Given the description of an element on the screen output the (x, y) to click on. 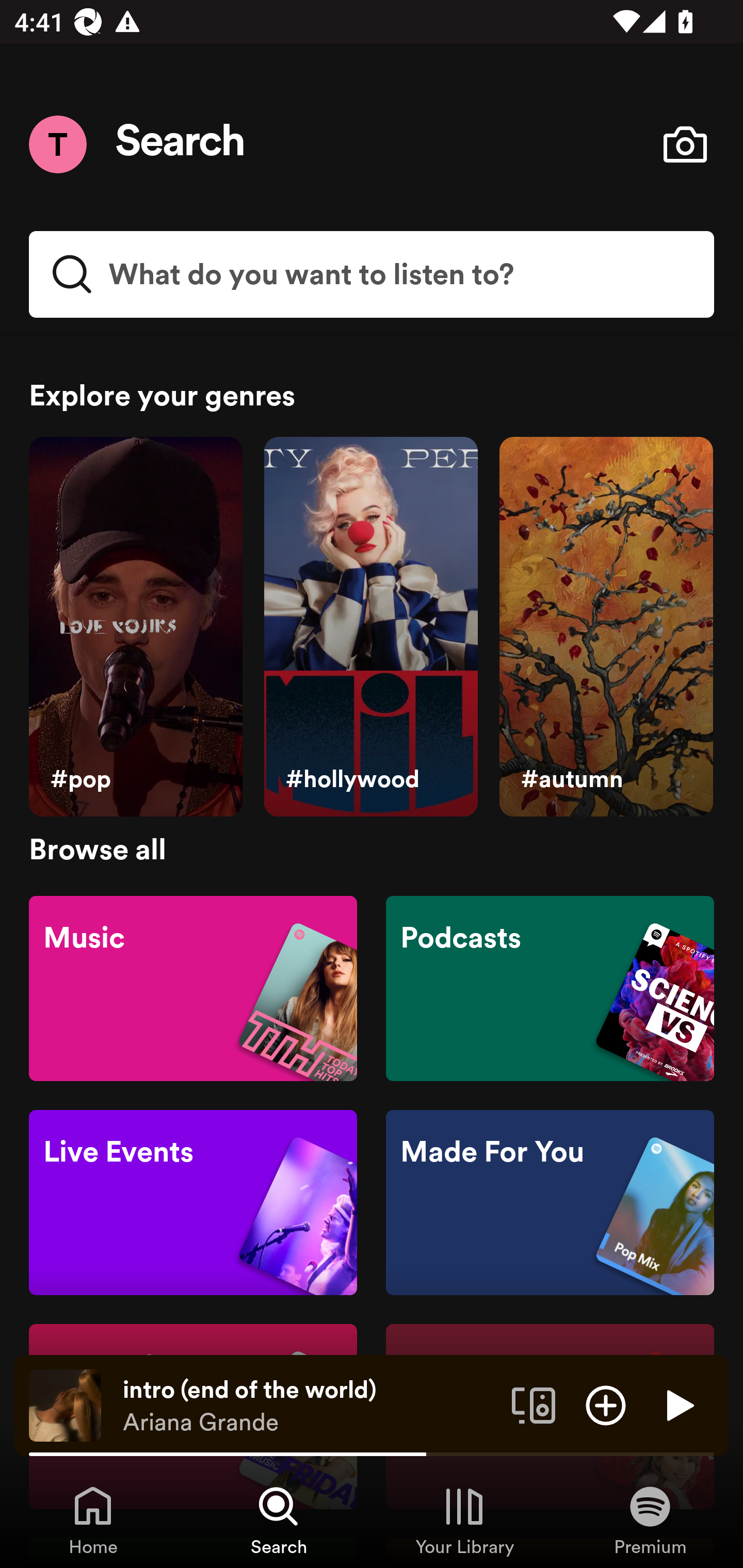
Menu (57, 144)
Open camera (685, 145)
Search (180, 144)
#pop (135, 626)
#hollywood (370, 626)
#autumn (606, 626)
Music (192, 987)
Podcasts (549, 987)
Live Events (192, 1202)
Made For You (549, 1202)
intro (end of the world) Ariana Grande (309, 1405)
The cover art of the currently playing track (64, 1404)
Connect to a device. Opens the devices menu (533, 1404)
Add item (605, 1404)
Play (677, 1404)
Home, Tab 1 of 4 Home Home (92, 1519)
Search, Tab 2 of 4 Search Search (278, 1519)
Your Library, Tab 3 of 4 Your Library Your Library (464, 1519)
Premium, Tab 4 of 4 Premium Premium (650, 1519)
